Given the description of an element on the screen output the (x, y) to click on. 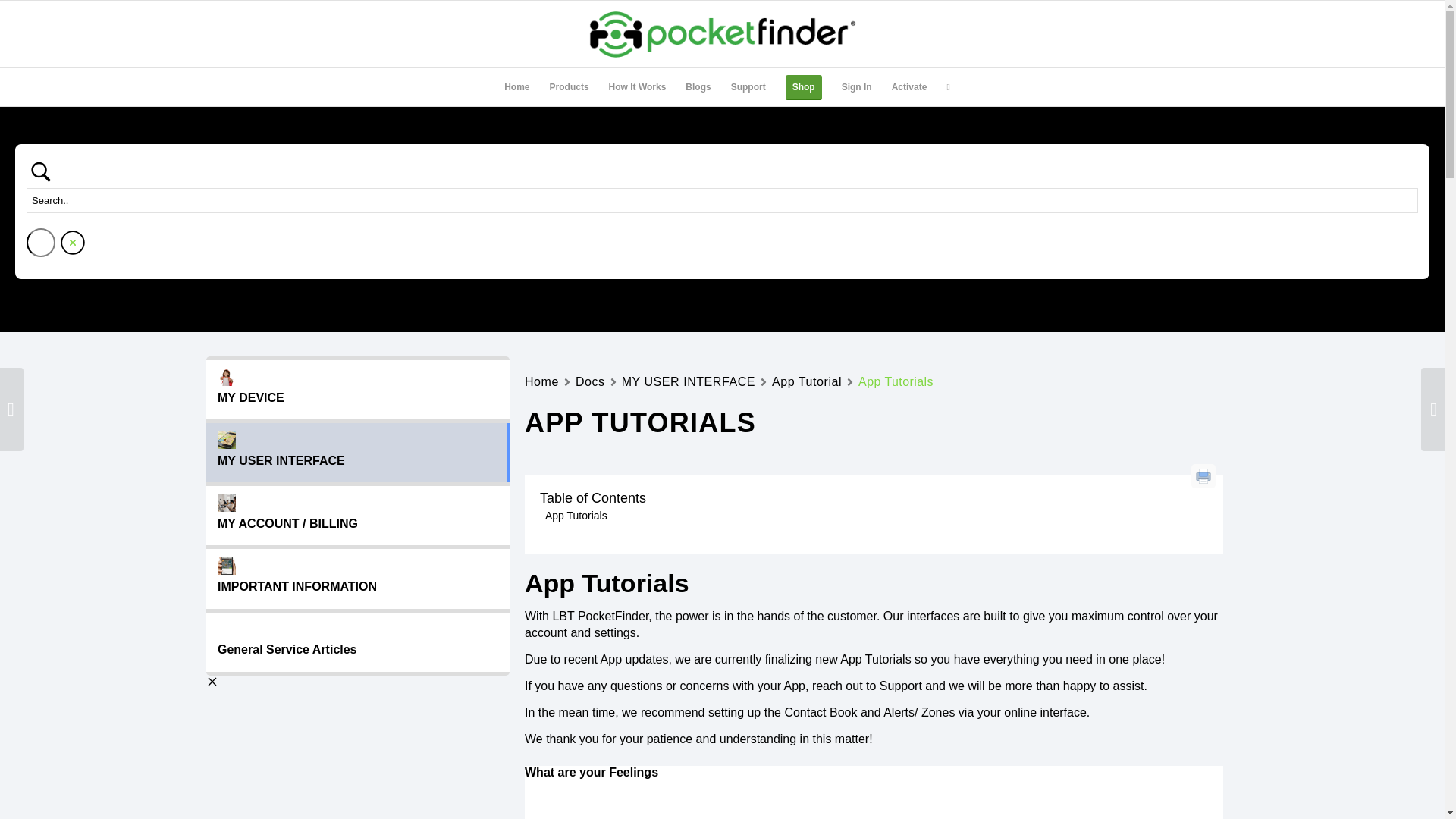
How It Works (637, 86)
Activate (909, 86)
Home (516, 86)
Blogs (697, 86)
Home (541, 381)
Products (569, 86)
Support (748, 86)
MY USER INTERFACE (688, 381)
Sign In (856, 86)
Docs (590, 381)
